Given the description of an element on the screen output the (x, y) to click on. 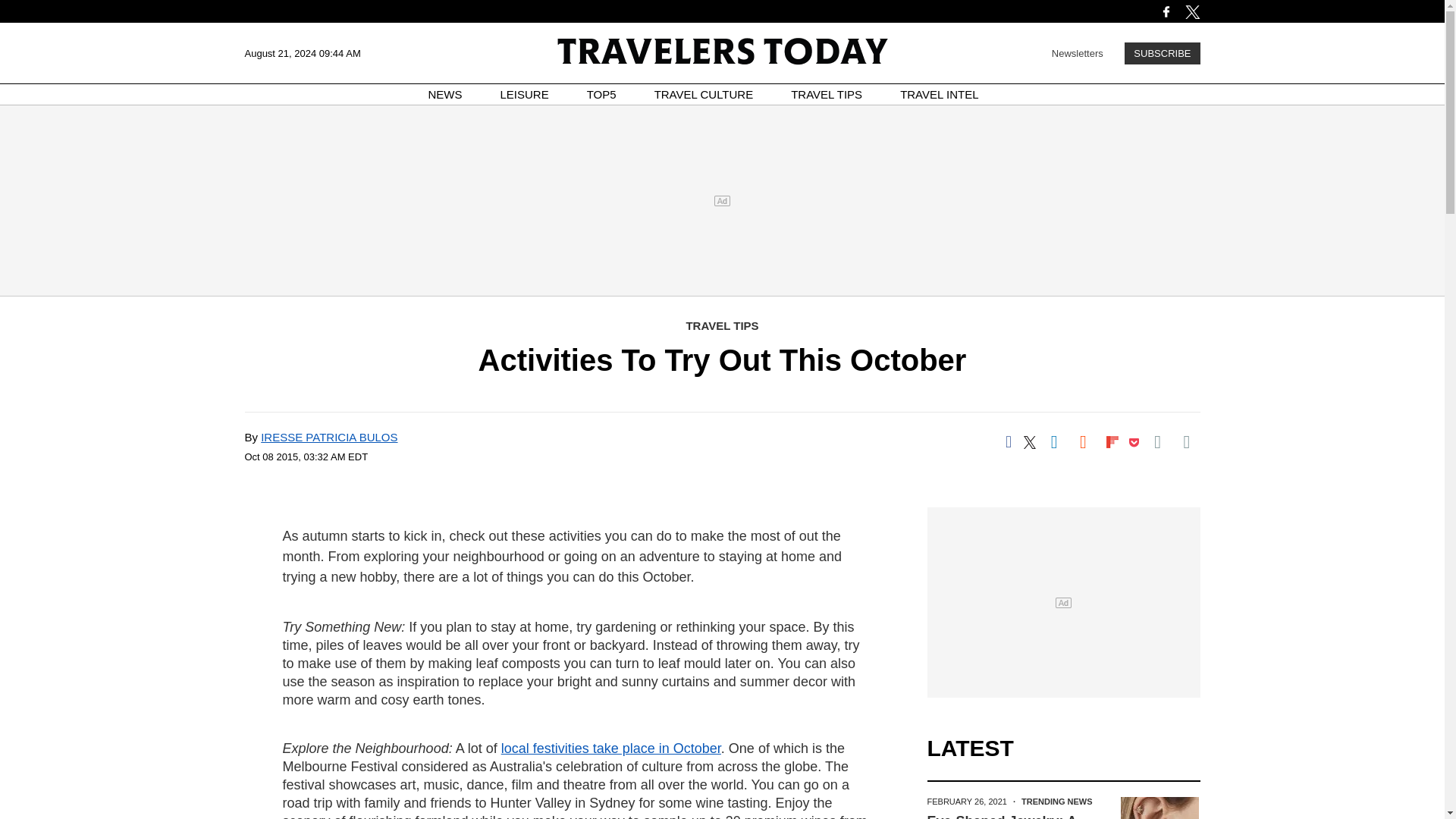
TRAVEL TIPS (825, 93)
SUBSCRIBE (1161, 53)
TRAVEL INTEL (938, 93)
Share on Flipboard (1112, 441)
TRENDING NEWS (1057, 800)
Share on Facebook (1008, 441)
Newsletters (1077, 52)
NEWS (445, 93)
IRESSE PATRICIA BULOS (328, 436)
